Given the description of an element on the screen output the (x, y) to click on. 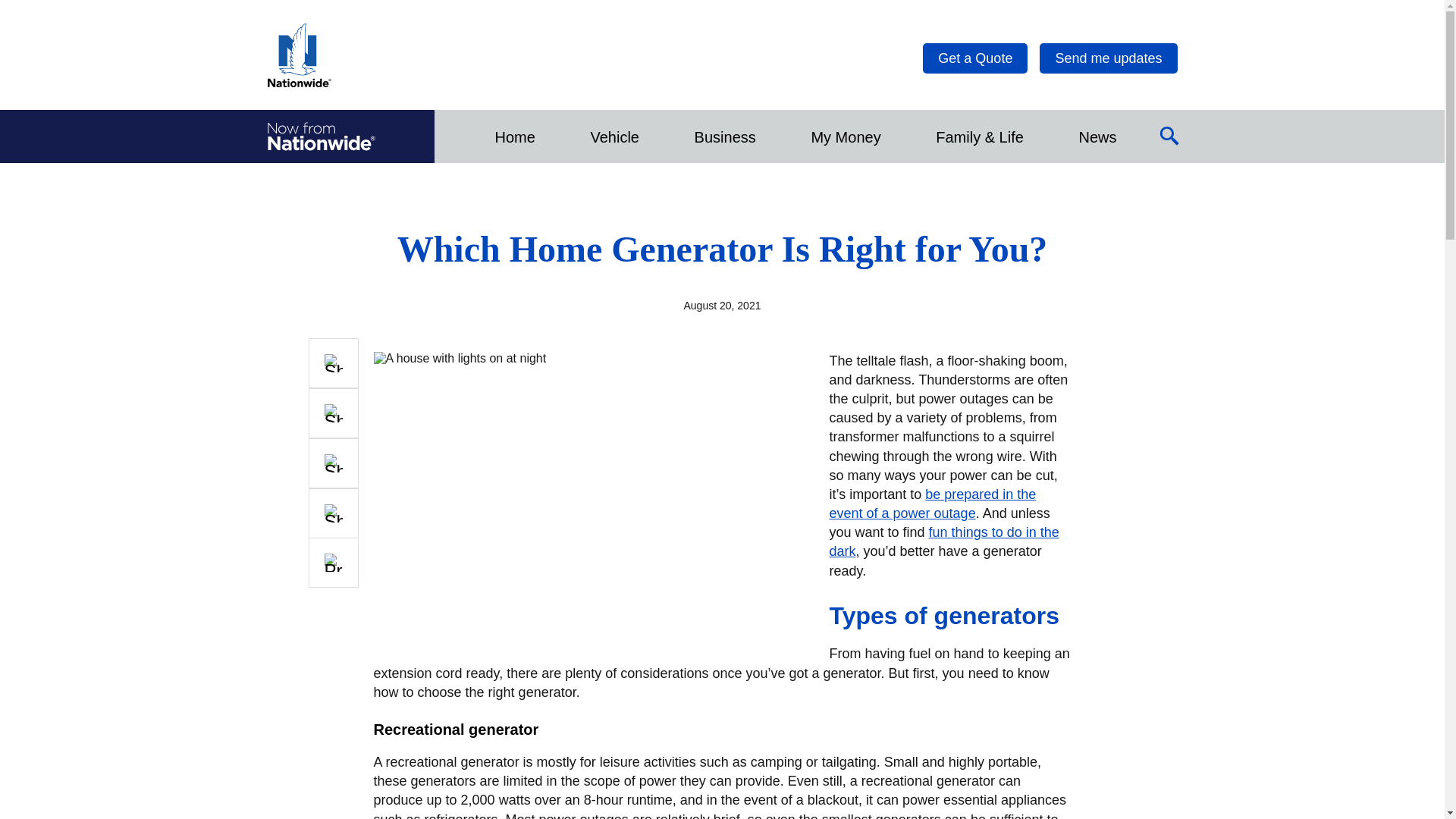
Business (725, 135)
Get a Quote (975, 58)
Vehicle (614, 135)
My Money (844, 135)
Prepare for a Power Outage (932, 503)
Home (514, 135)
Blackout Activities (944, 541)
Send me updates (1107, 58)
